Given the description of an element on the screen output the (x, y) to click on. 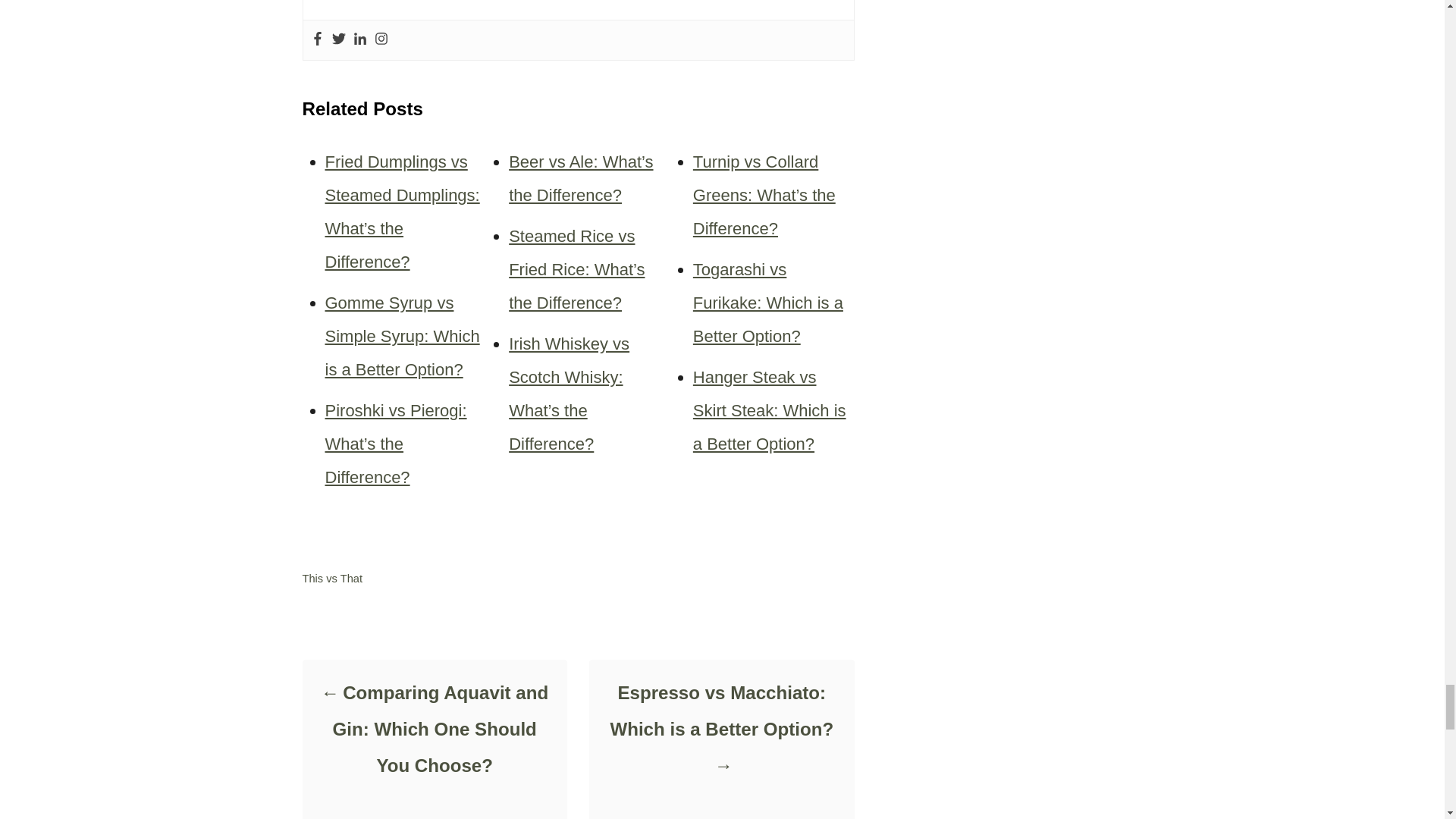
Gomme Syrup vs Simple Syrup: Which is a Better Option? (401, 336)
Hanger Steak vs Skirt Steak: Which is a Better Option? (769, 410)
Togarashi vs Furikake: Which is a Better Option? (768, 302)
This vs That (331, 578)
